Given the description of an element on the screen output the (x, y) to click on. 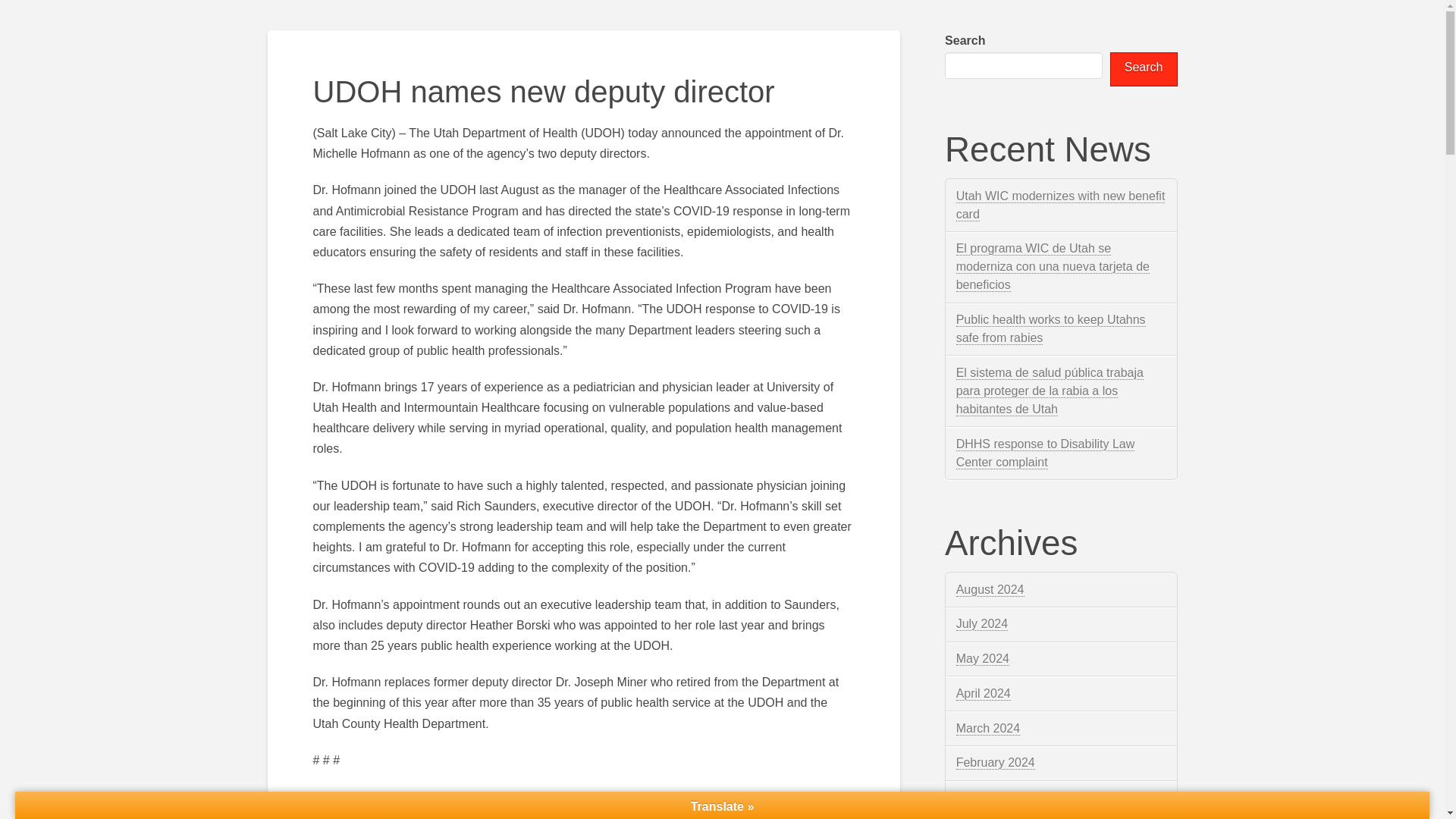
April 2024 (983, 694)
March 2024 (988, 728)
Public health works to keep Utahns safe from rabies (1050, 328)
DHHS response to Disability Law Center complaint (1045, 453)
December 2023 (999, 797)
July 2024 (982, 623)
Search (1143, 69)
August 2024 (990, 590)
Utah WIC modernizes with new benefit card (1061, 205)
February 2024 (995, 762)
May 2024 (982, 658)
